Given the description of an element on the screen output the (x, y) to click on. 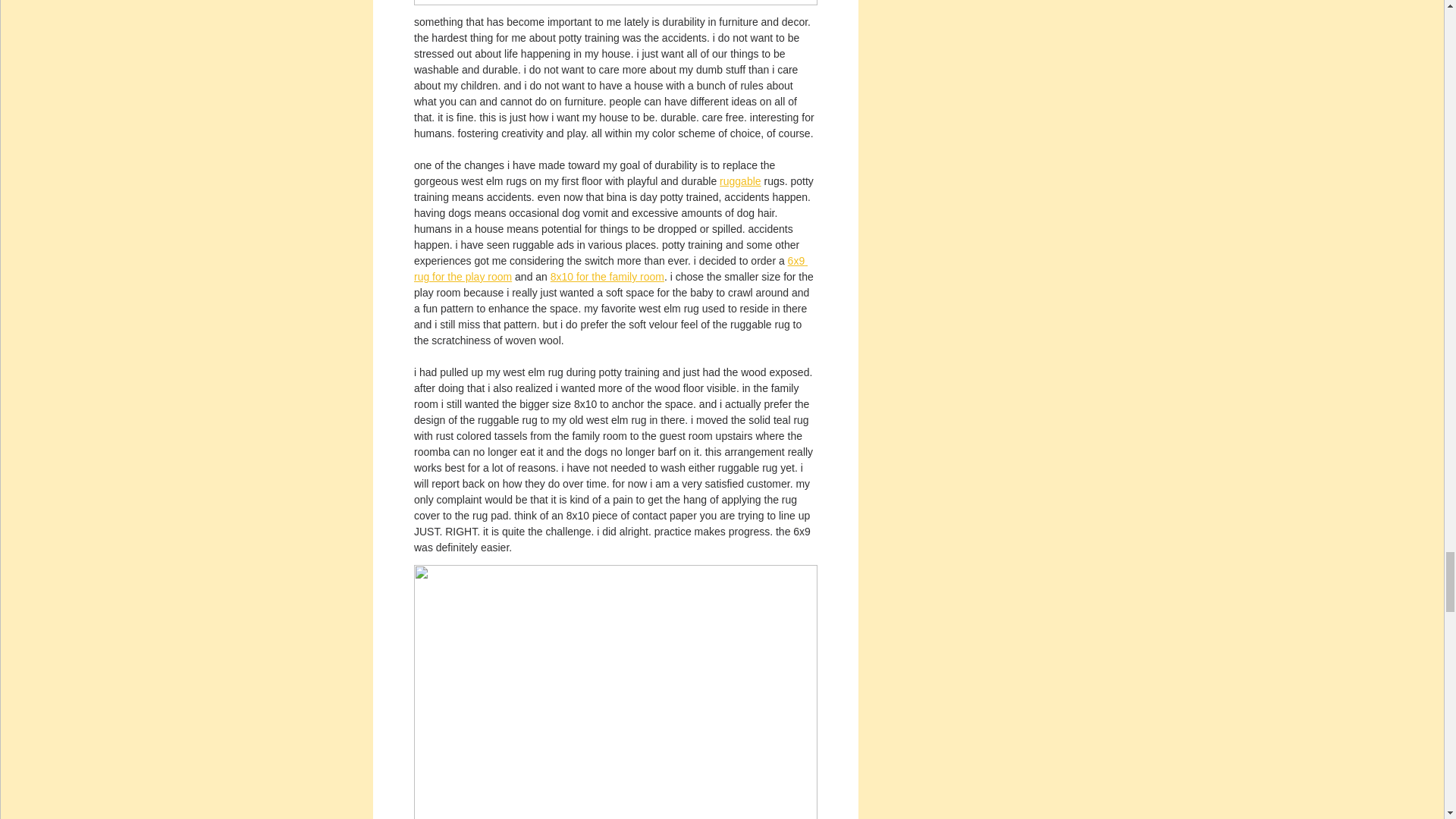
6x9 rug for the play room (610, 268)
ruggable (740, 181)
8x10 for the family room (606, 276)
